Given the description of an element on the screen output the (x, y) to click on. 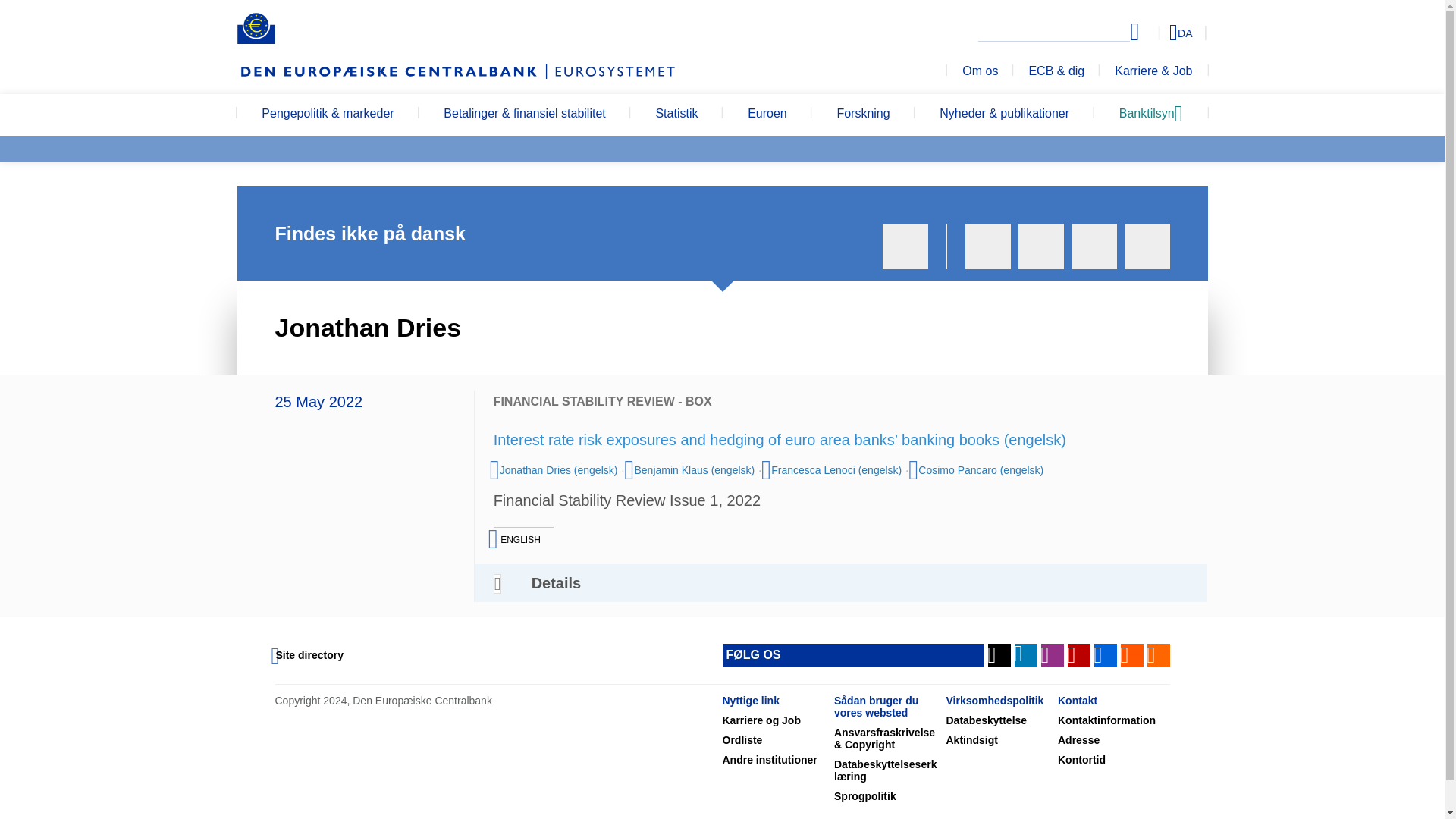
Select language (1153, 32)
